Given the description of an element on the screen output the (x, y) to click on. 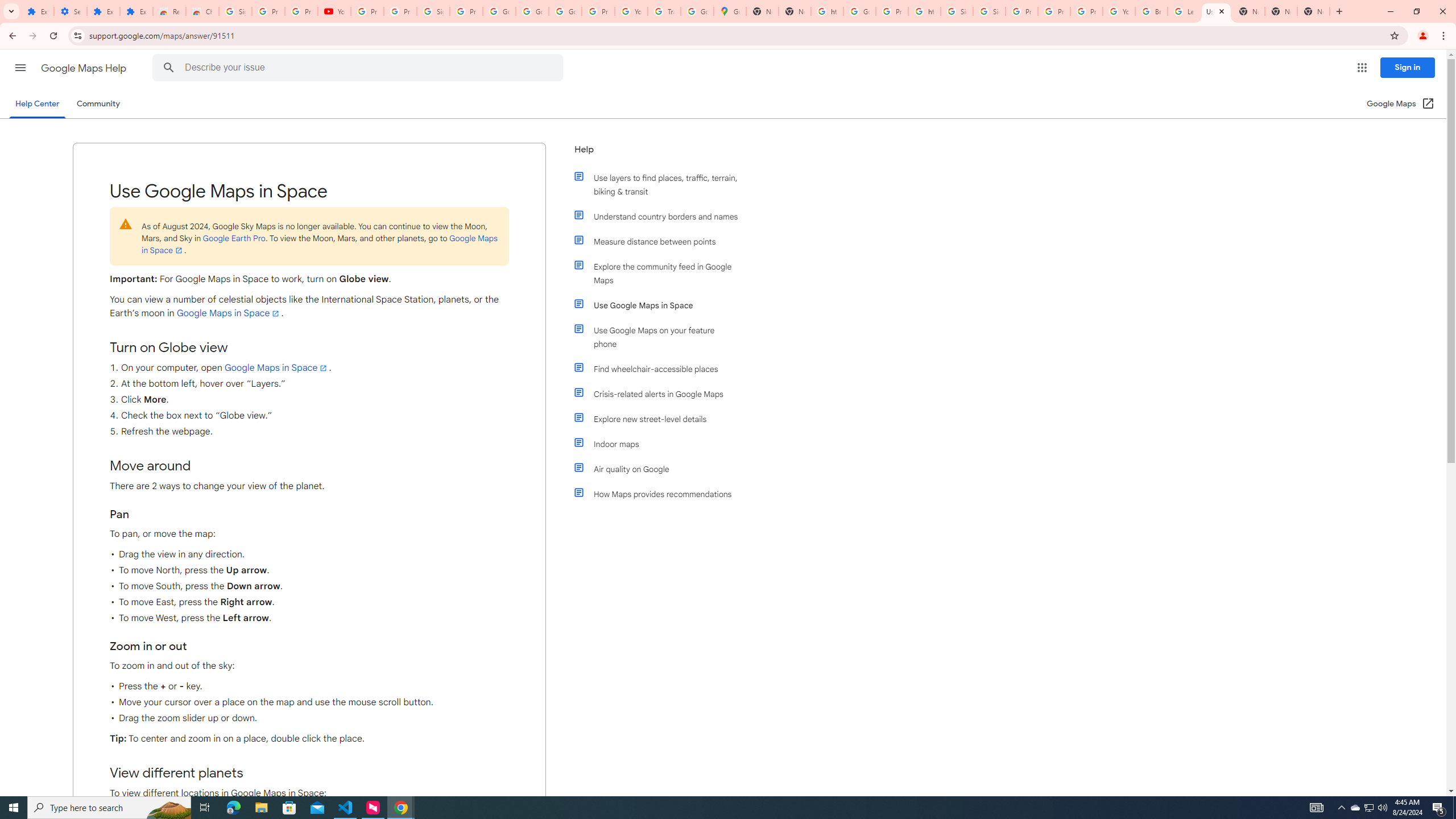
Search Help Center (168, 67)
Google Maps (730, 11)
Describe your issue (359, 67)
Chrome Web Store - Themes (202, 11)
Use Google Maps in Space (661, 305)
Sign in - Google Accounts (433, 11)
Sign in - Google Accounts (989, 11)
Extensions (103, 11)
